Given the description of an element on the screen output the (x, y) to click on. 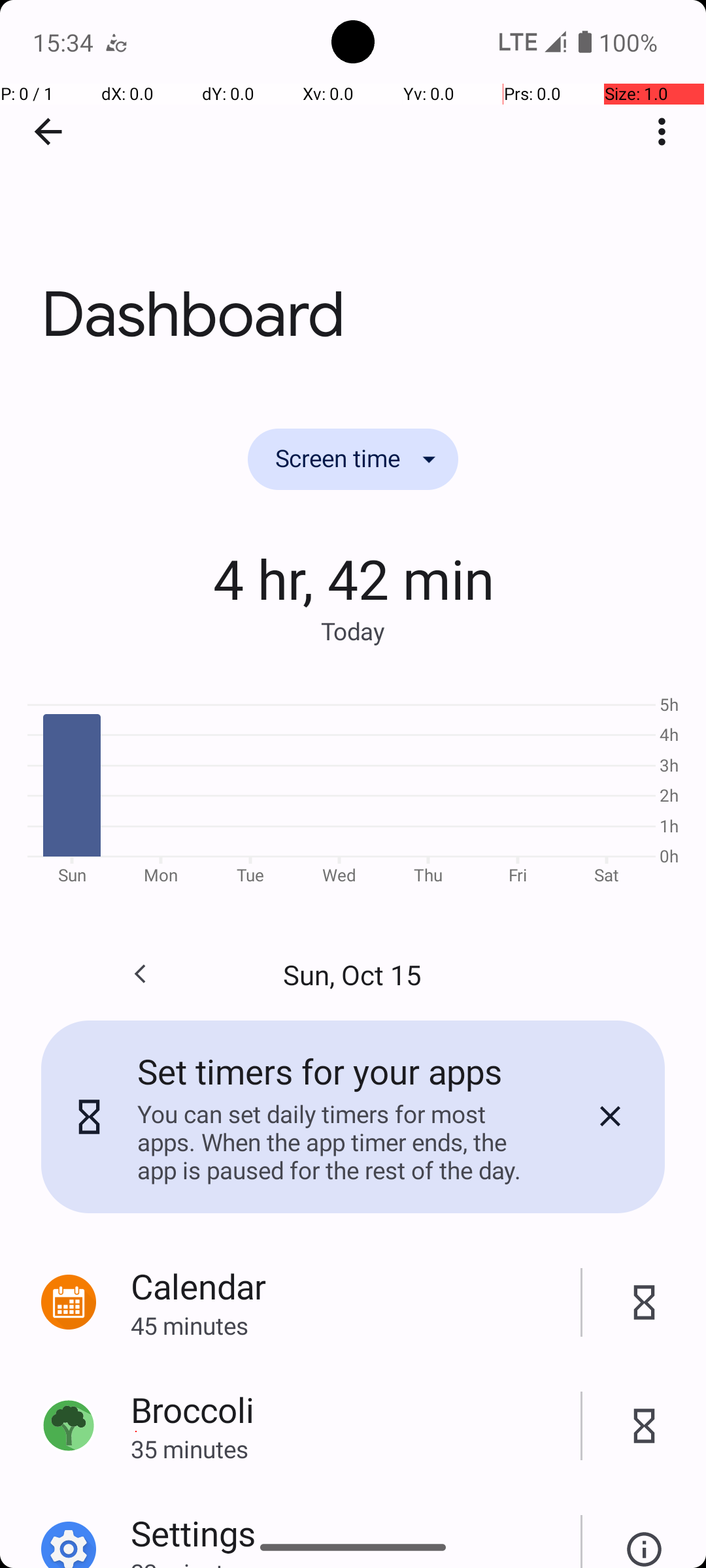
Dashboard Element type: android.widget.FrameLayout (353, 195)
4 hr, 42 min Element type: android.widget.TextView (353, 577)
Set timers for your apps Element type: android.widget.TextView (319, 1070)
You can set daily timers for most apps. When the app timer ends, the app is paused for the rest of the day. Element type: android.widget.TextView (339, 1141)
Dismiss card Element type: android.widget.Button (609, 1116)
45 minutes Element type: android.widget.TextView (355, 1325)
No timer set for Calendar Element type: android.widget.FrameLayout (644, 1302)
35 minutes Element type: android.widget.TextView (355, 1448)
No timer set for Broccoli Element type: android.widget.FrameLayout (644, 1425)
33 minutes Element type: android.widget.TextView (355, 1562)
Can't set timer Element type: android.widget.FrameLayout (644, 1534)
Bar Chart. Showing Phone usage data with 7 data points. Element type: android.view.ViewGroup (353, 787)
